Given the description of an element on the screen output the (x, y) to click on. 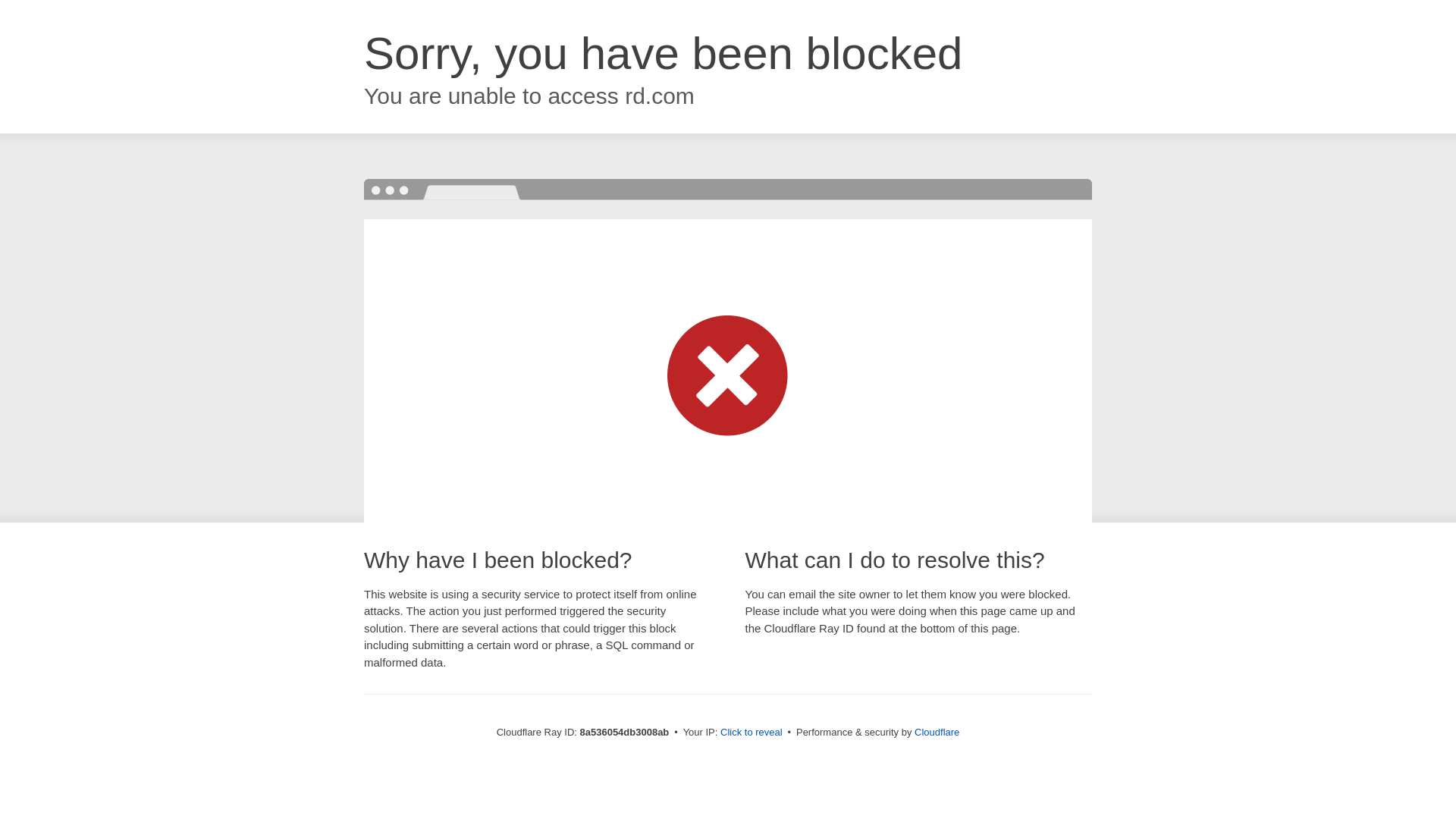
Click to reveal (751, 732)
Cloudflare (936, 731)
